Given the description of an element on the screen output the (x, y) to click on. 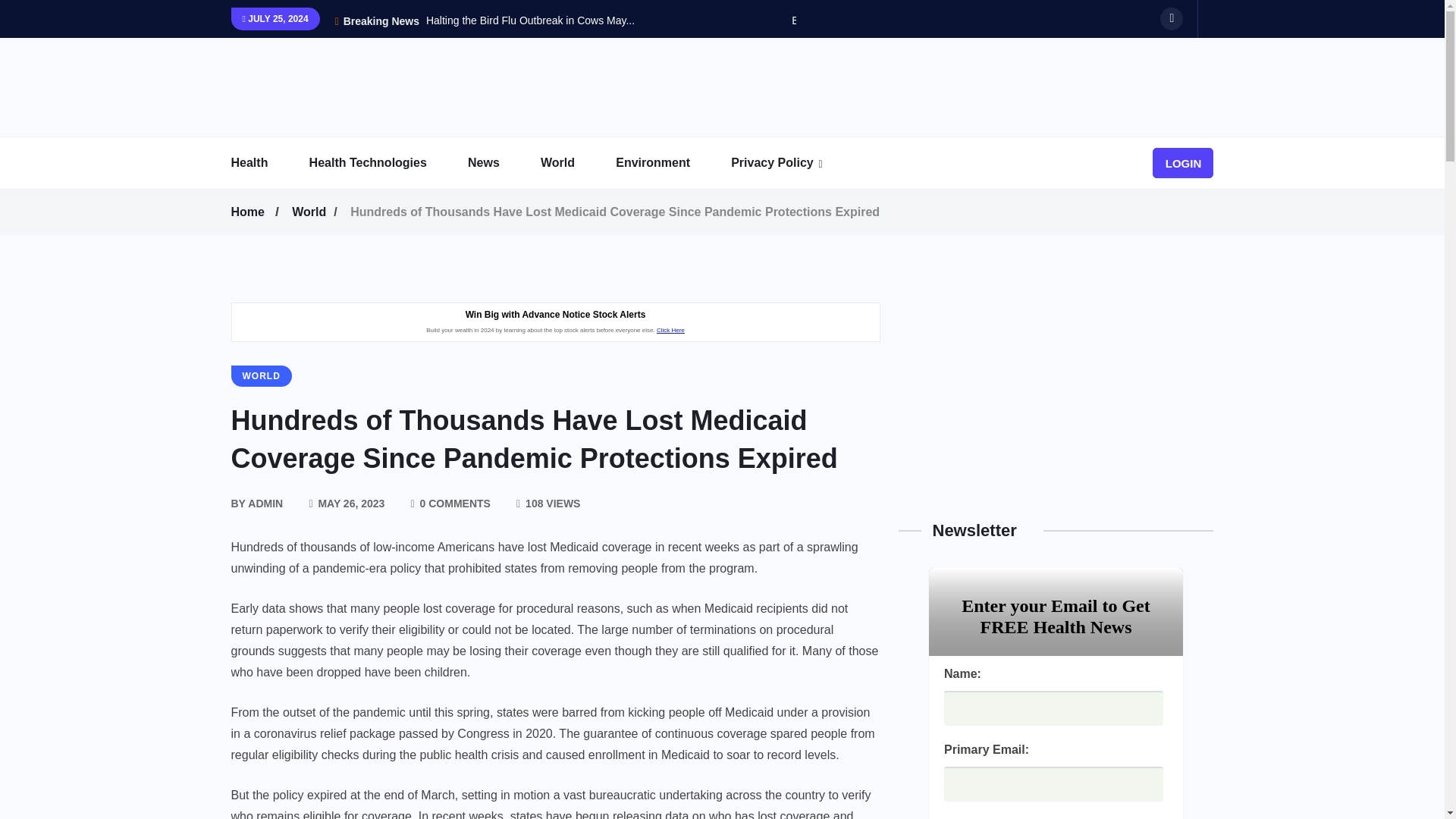
World (576, 163)
World (311, 211)
WORLD (260, 375)
News (502, 163)
Whitelist (825, 204)
Health (267, 163)
unwinding of a pandemic-era policy (325, 568)
Environment (671, 163)
Home (249, 211)
LOGIN (1182, 163)
Halting the Bird Flu Outbreak in Cows May... (530, 20)
Privacy Policy (790, 163)
Biden Made a Healthy Decision (865, 20)
Health Technologies (386, 163)
